Given the description of an element on the screen output the (x, y) to click on. 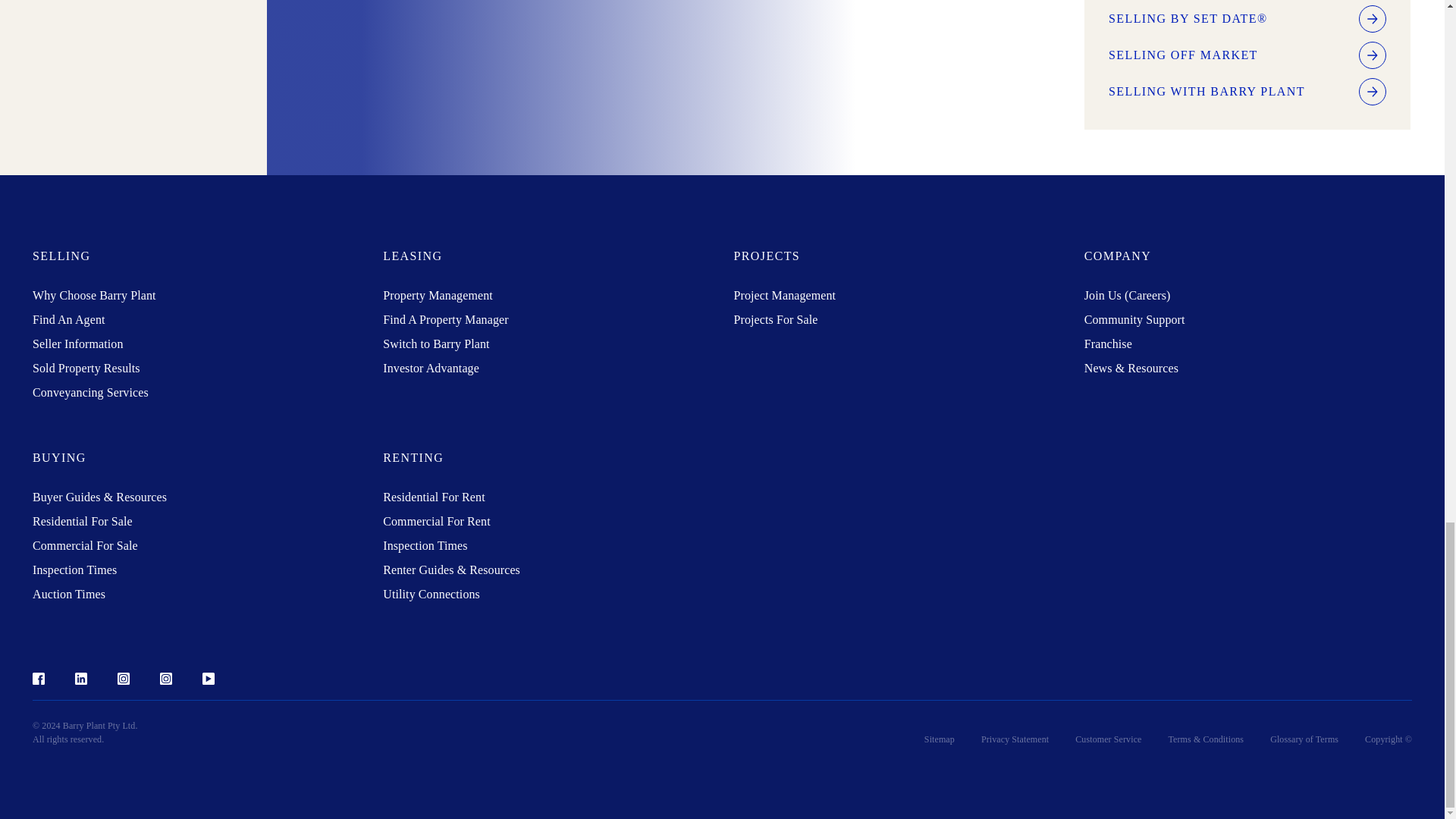
SELLING OFF MARKET (1247, 54)
Why Choose Barry Plant (93, 295)
SELLING WITH BARRY PLANT (1247, 91)
Find An Agent (68, 318)
